Given the description of an element on the screen output the (x, y) to click on. 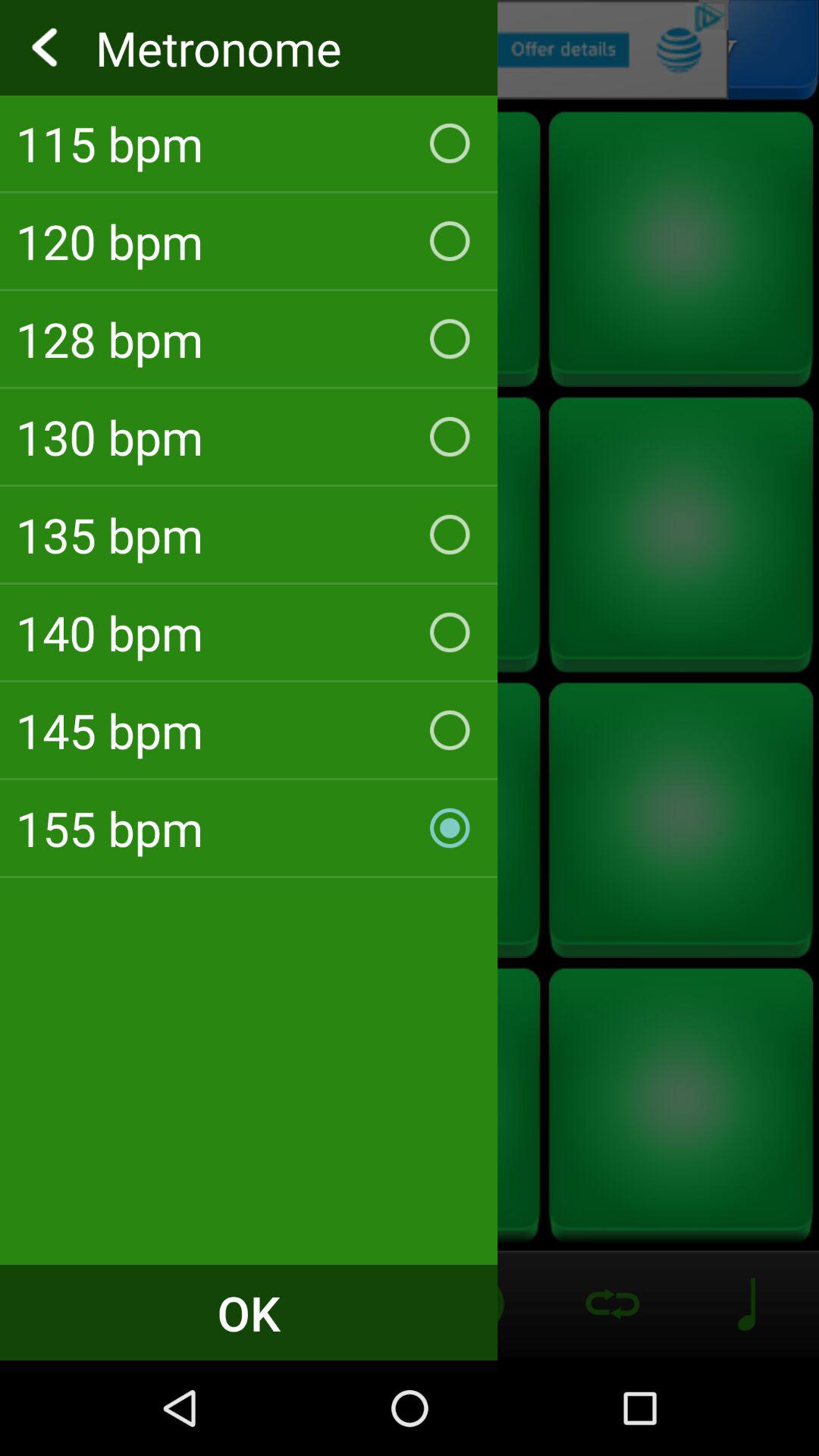
launch the icon above 140 bpm checkbox (248, 534)
